Given the description of an element on the screen output the (x, y) to click on. 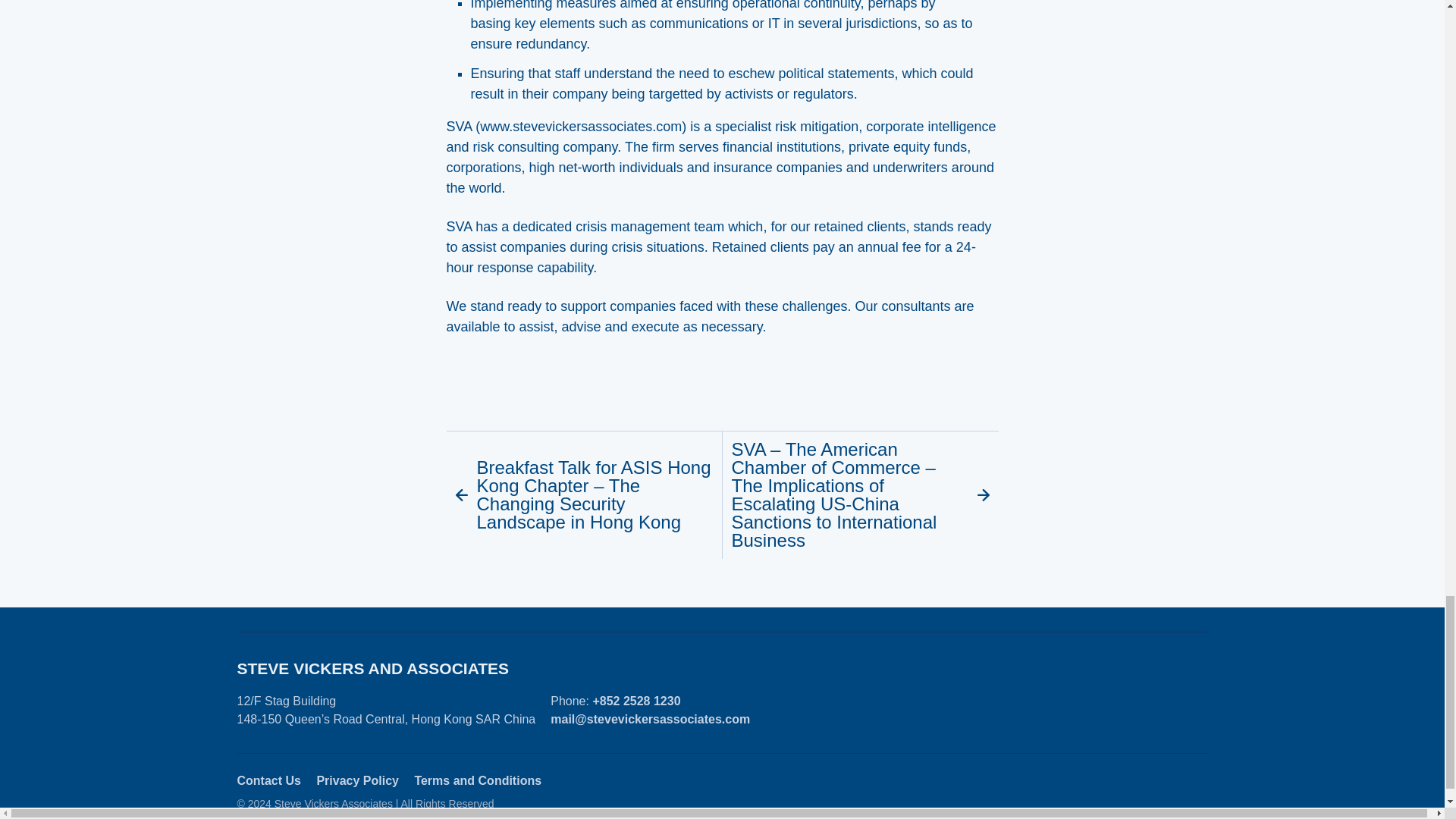
Contact Us (267, 780)
Terms and Conditions (477, 780)
www.stevevickersassociates.com (580, 126)
Privacy Policy (356, 780)
